Given the description of an element on the screen output the (x, y) to click on. 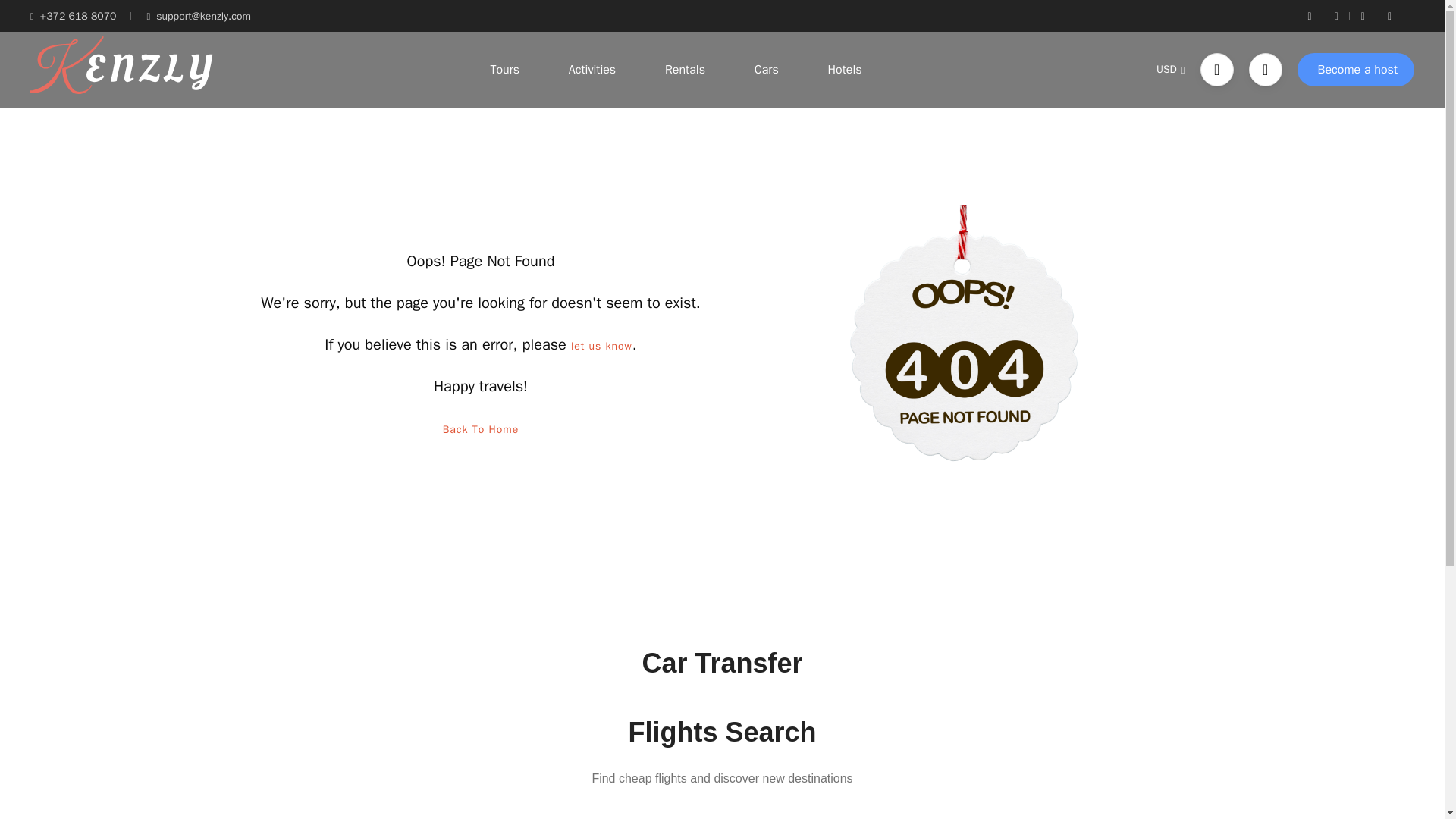
Tours (504, 70)
let us know (600, 345)
USD (1170, 69)
Cars (767, 70)
Become a host (1355, 69)
Rentals (685, 70)
Activities (592, 70)
Hotels (845, 70)
Back To Home (480, 429)
